Given the description of an element on the screen output the (x, y) to click on. 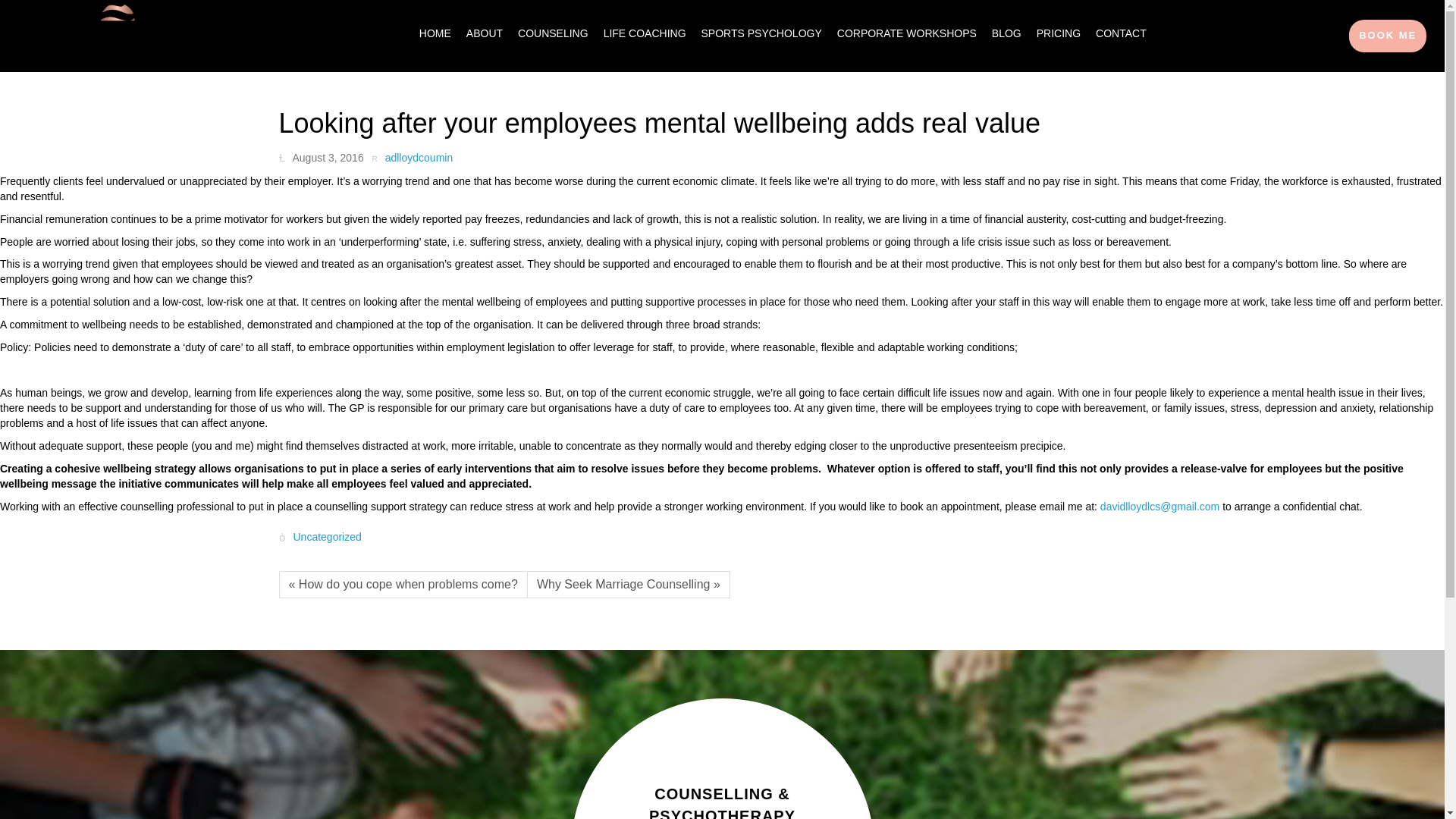
CORPORATE WORKSHOPS (906, 33)
adlloydcoumin (411, 157)
BOOK ME (1387, 35)
LIFE COACHING (644, 33)
View all posts by adlloydcoumin (411, 157)
How do you cope  when problems come? (403, 584)
CONTACT (1120, 33)
COUNSELING (553, 33)
HOME (435, 33)
ABOUT (484, 33)
